Given the description of an element on the screen output the (x, y) to click on. 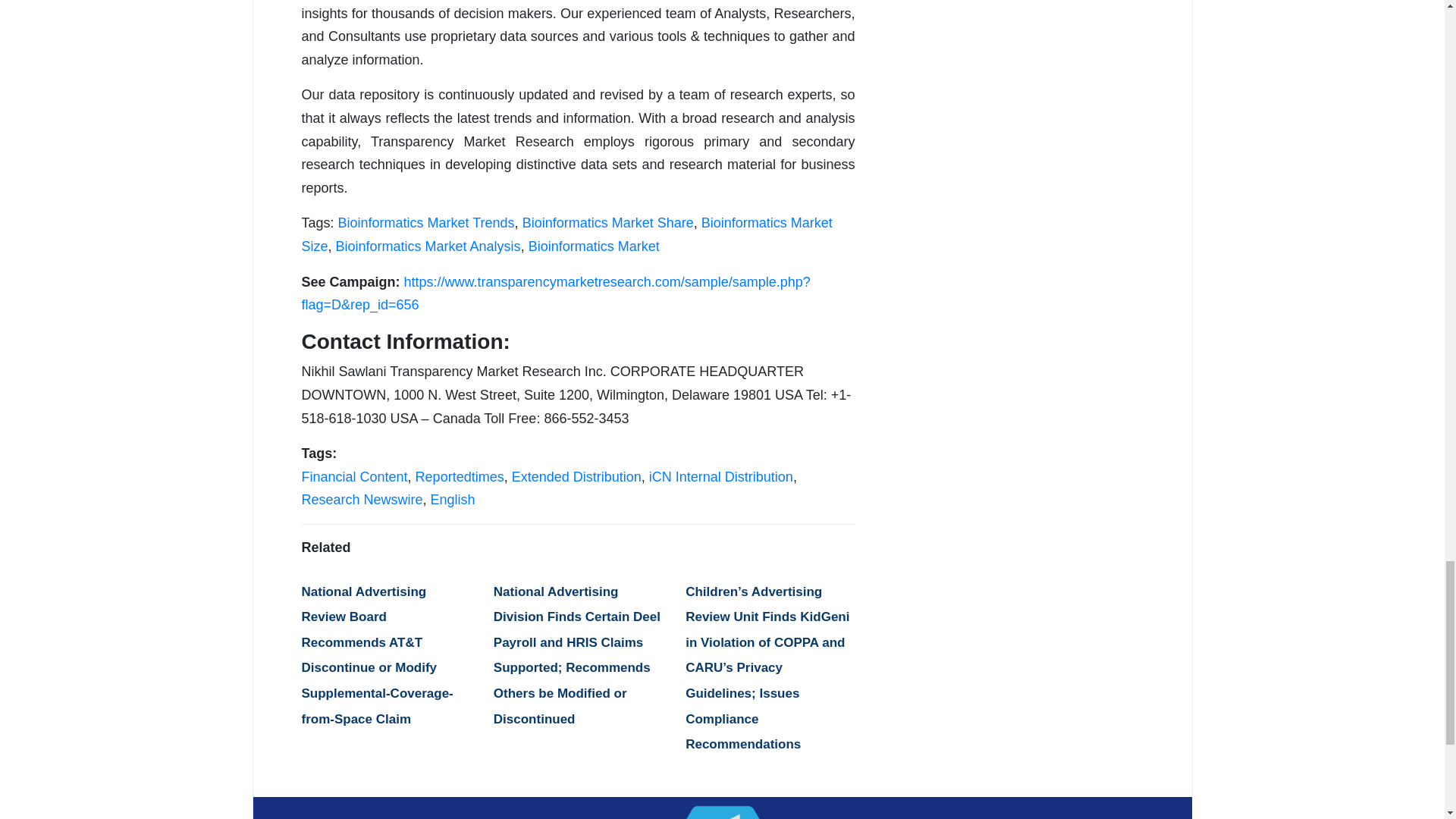
Research Newswire (362, 499)
Bioinformatics Market Trends (426, 222)
Financial Content (354, 476)
Extended Distribution (577, 476)
Bioinformatics Market Size (566, 234)
Reportedtimes (458, 476)
Bioinformatics Market Analysis (428, 246)
Bioinformatics Market (593, 246)
iCN Internal Distribution (721, 476)
English (453, 499)
